Given the description of an element on the screen output the (x, y) to click on. 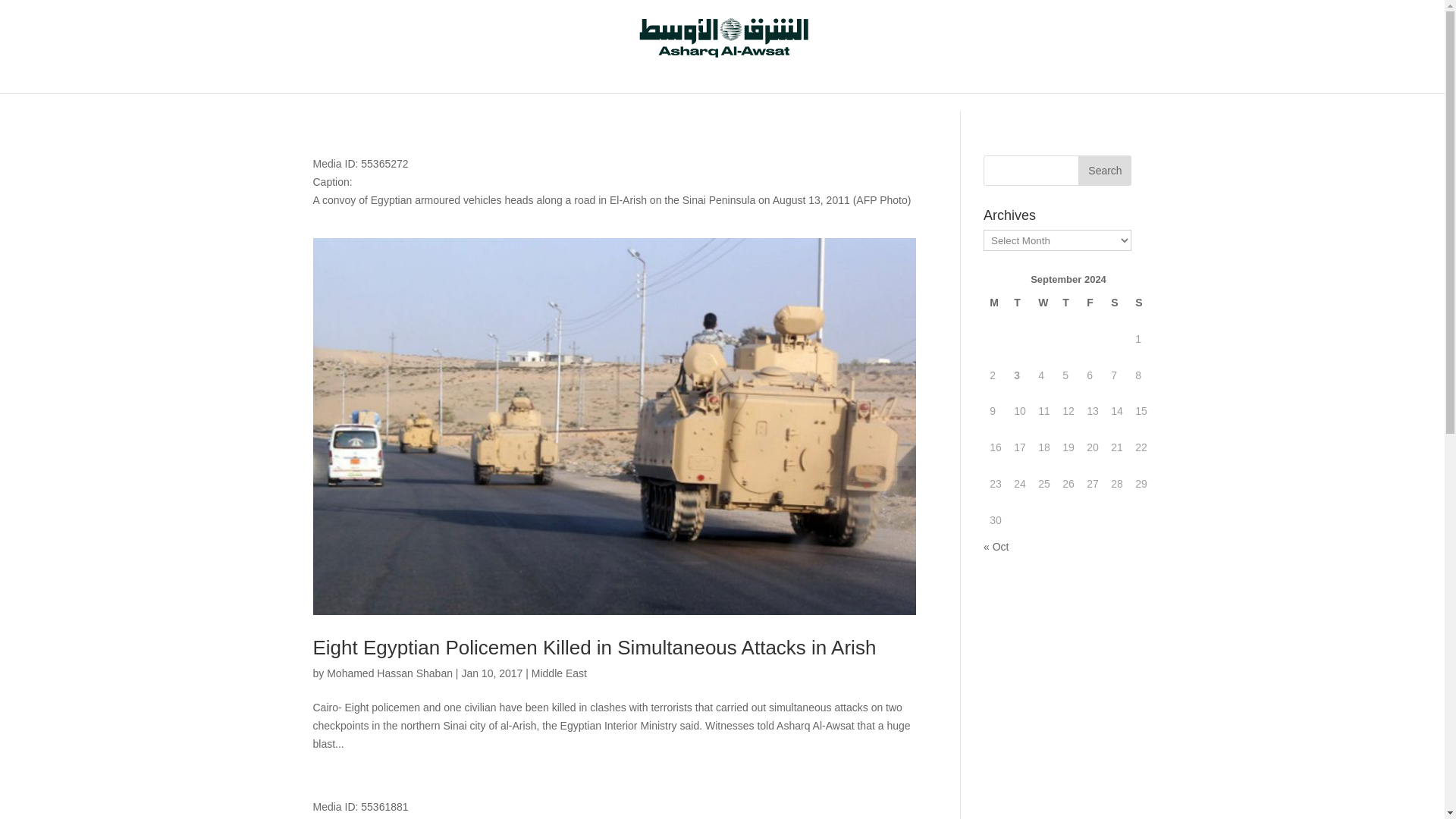
Search (1104, 170)
Mohamed Hassan Shaban (389, 673)
Search (1104, 170)
Middle East (558, 673)
Posts by Mohamed Hassan Shaban (389, 673)
